Given the description of an element on the screen output the (x, y) to click on. 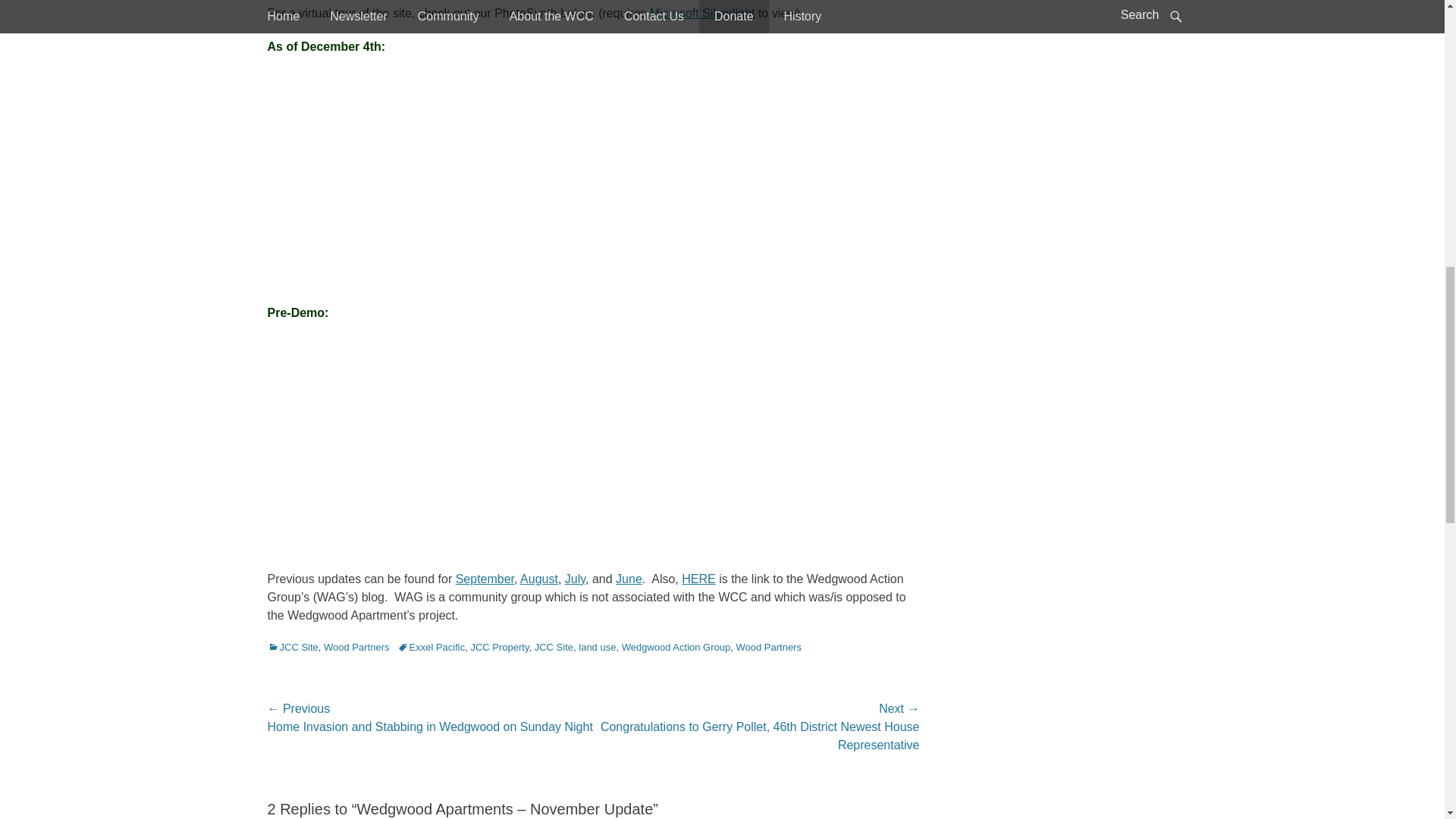
Microsoft Silverlight (702, 11)
HERE (697, 577)
June (628, 577)
September (484, 577)
July (574, 577)
August (538, 577)
